Given the description of an element on the screen output the (x, y) to click on. 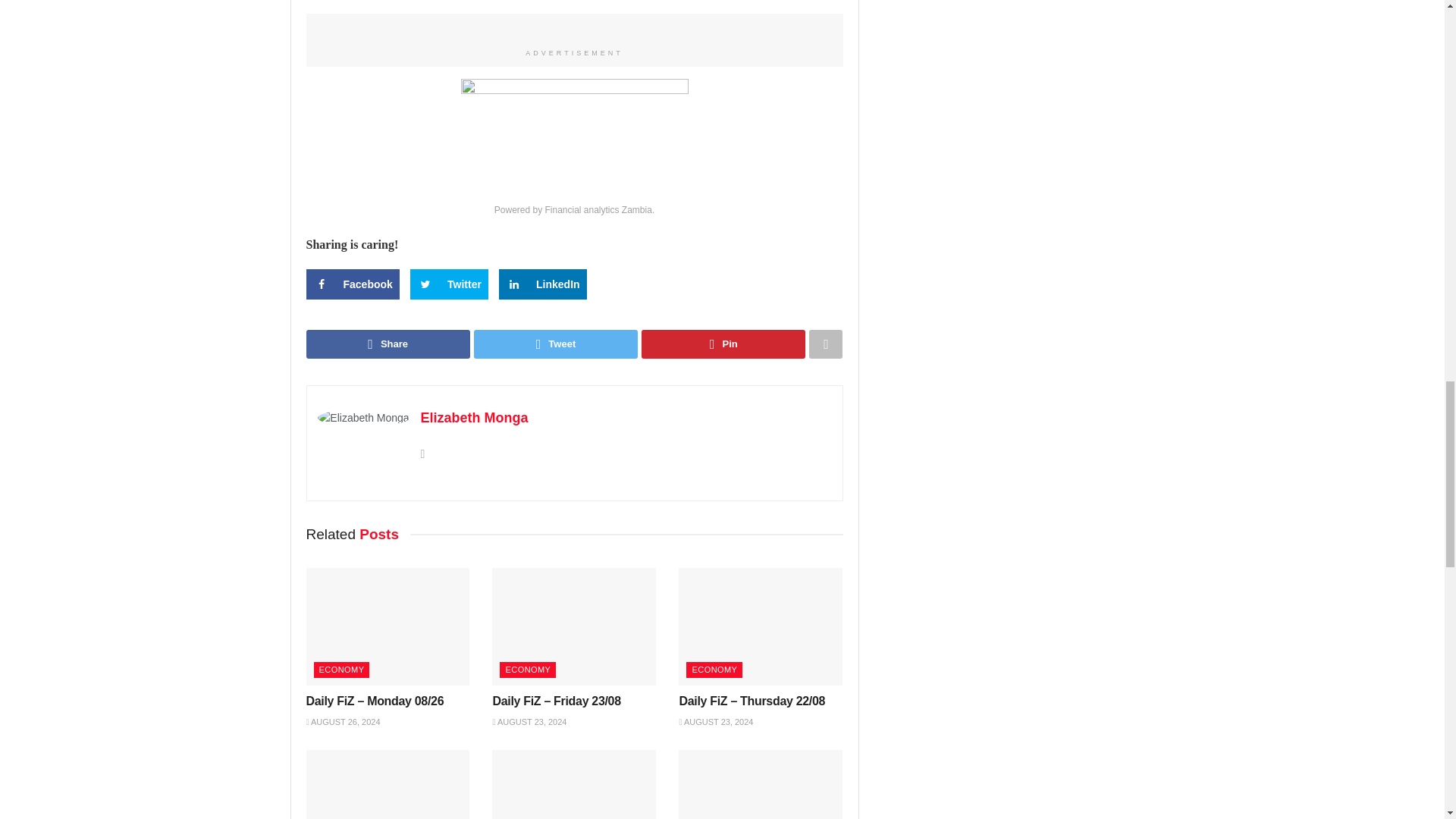
Share on Twitter (448, 284)
Share on LinkedIn (542, 284)
Share on Facebook (351, 284)
